Given the description of an element on the screen output the (x, y) to click on. 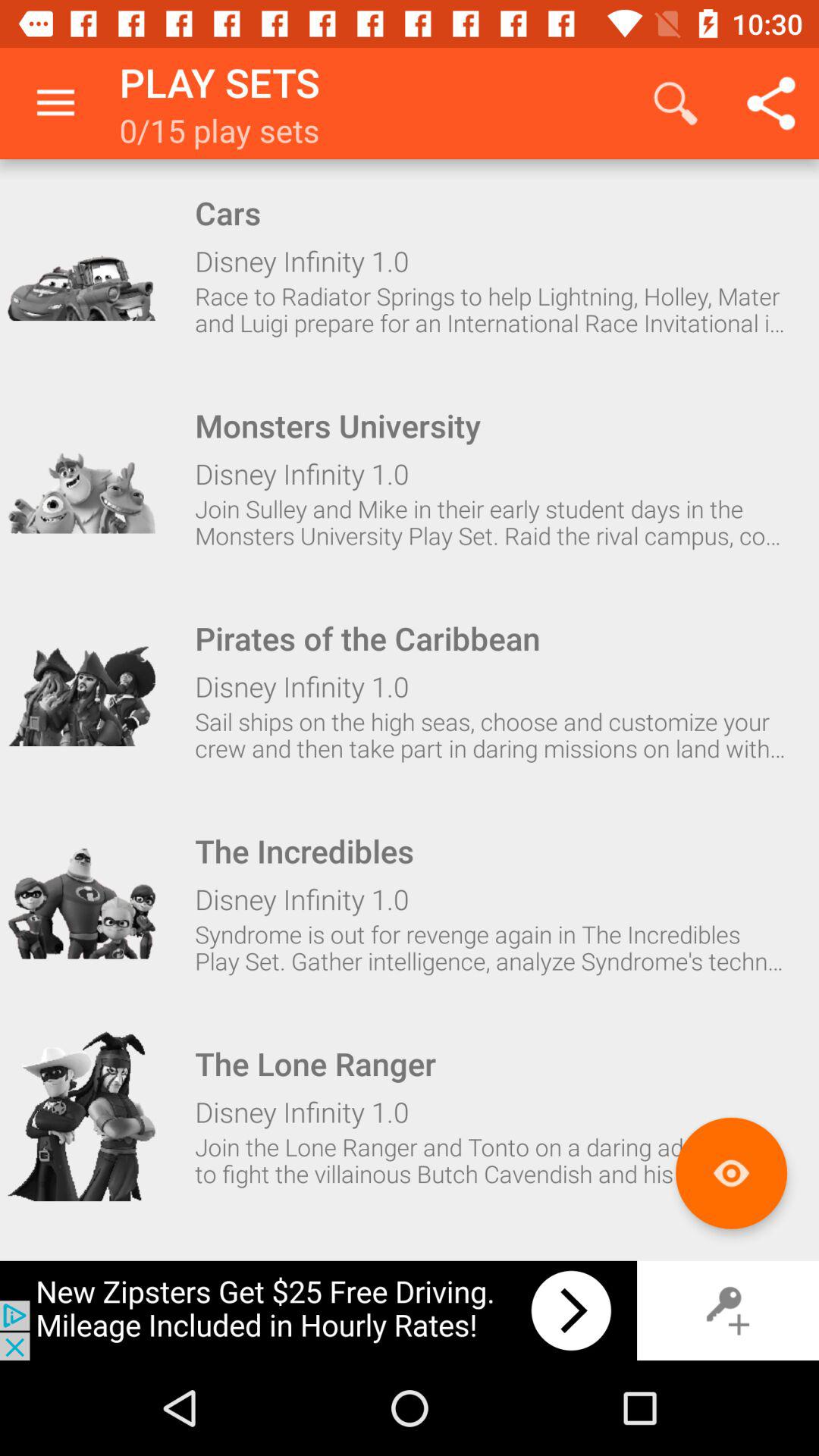
enter private section (728, 1310)
